Given the description of an element on the screen output the (x, y) to click on. 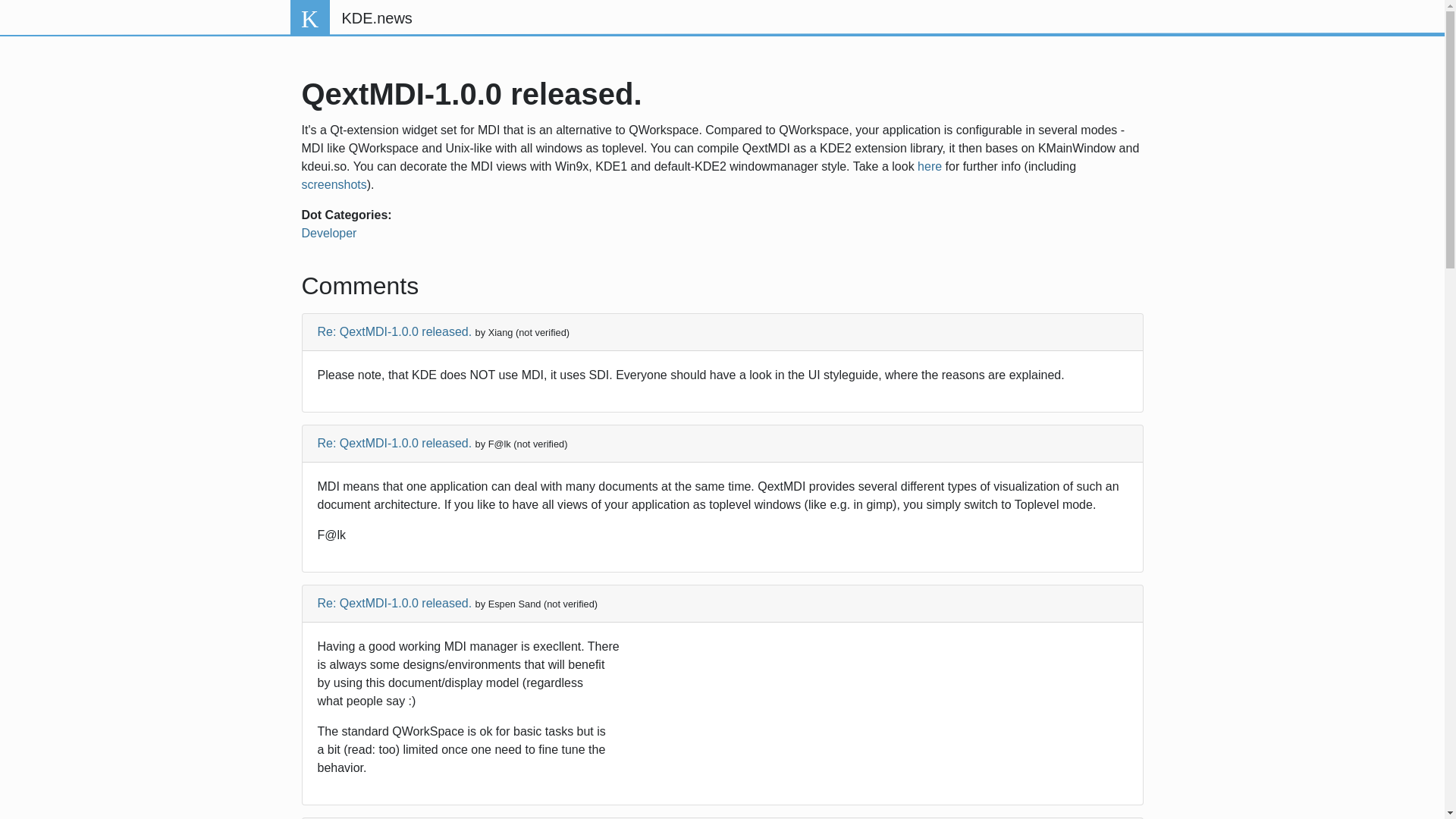
Home (309, 18)
Re: QextMDI-1.0.0 released. (394, 331)
Home (376, 18)
here (929, 165)
Re: QextMDI-1.0.0 released. (394, 603)
screenshots (333, 184)
Re: QextMDI-1.0.0 released. (394, 442)
Developer (328, 232)
